Given the description of an element on the screen output the (x, y) to click on. 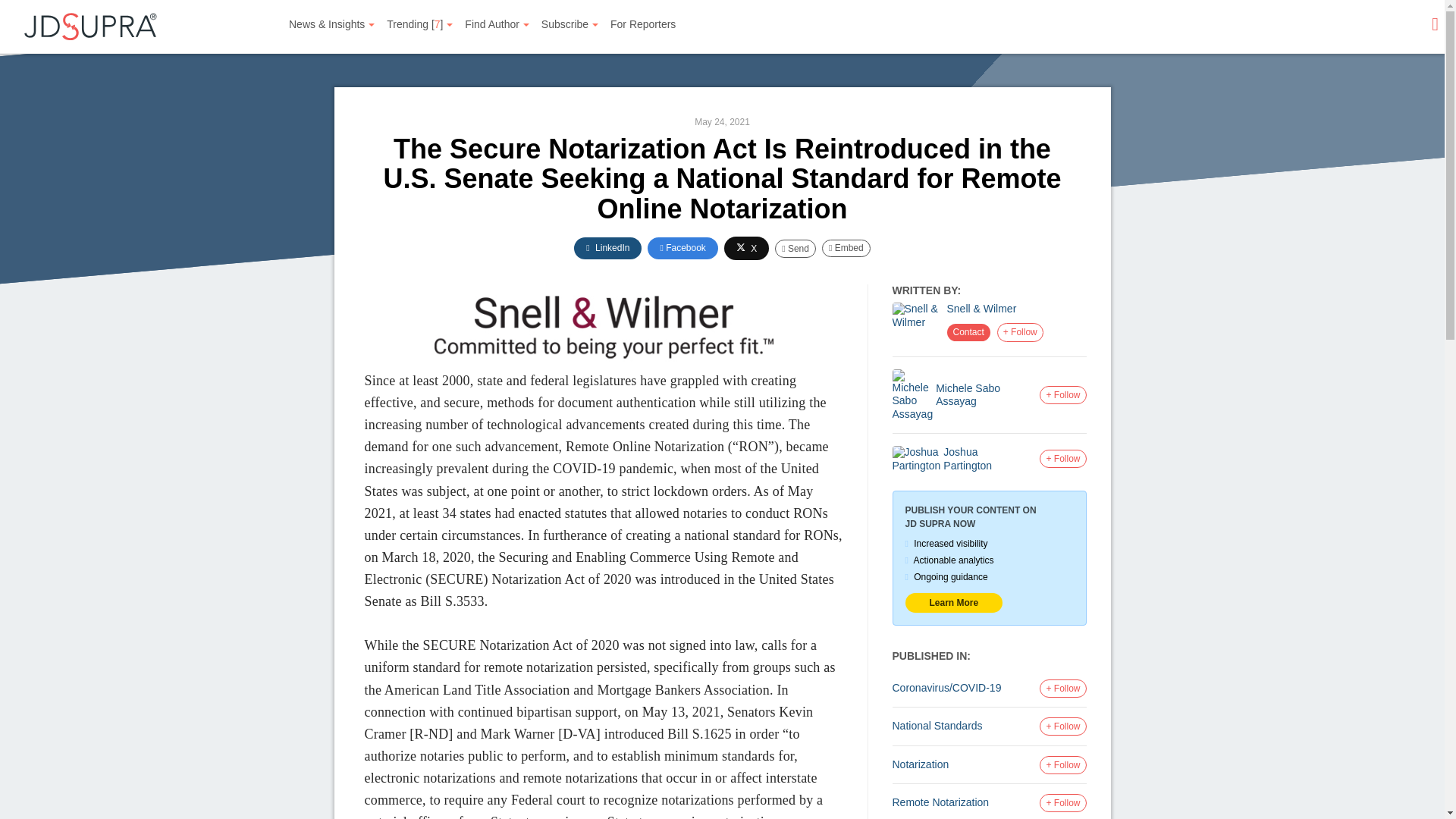
Find Author (496, 23)
